Given the description of an element on the screen output the (x, y) to click on. 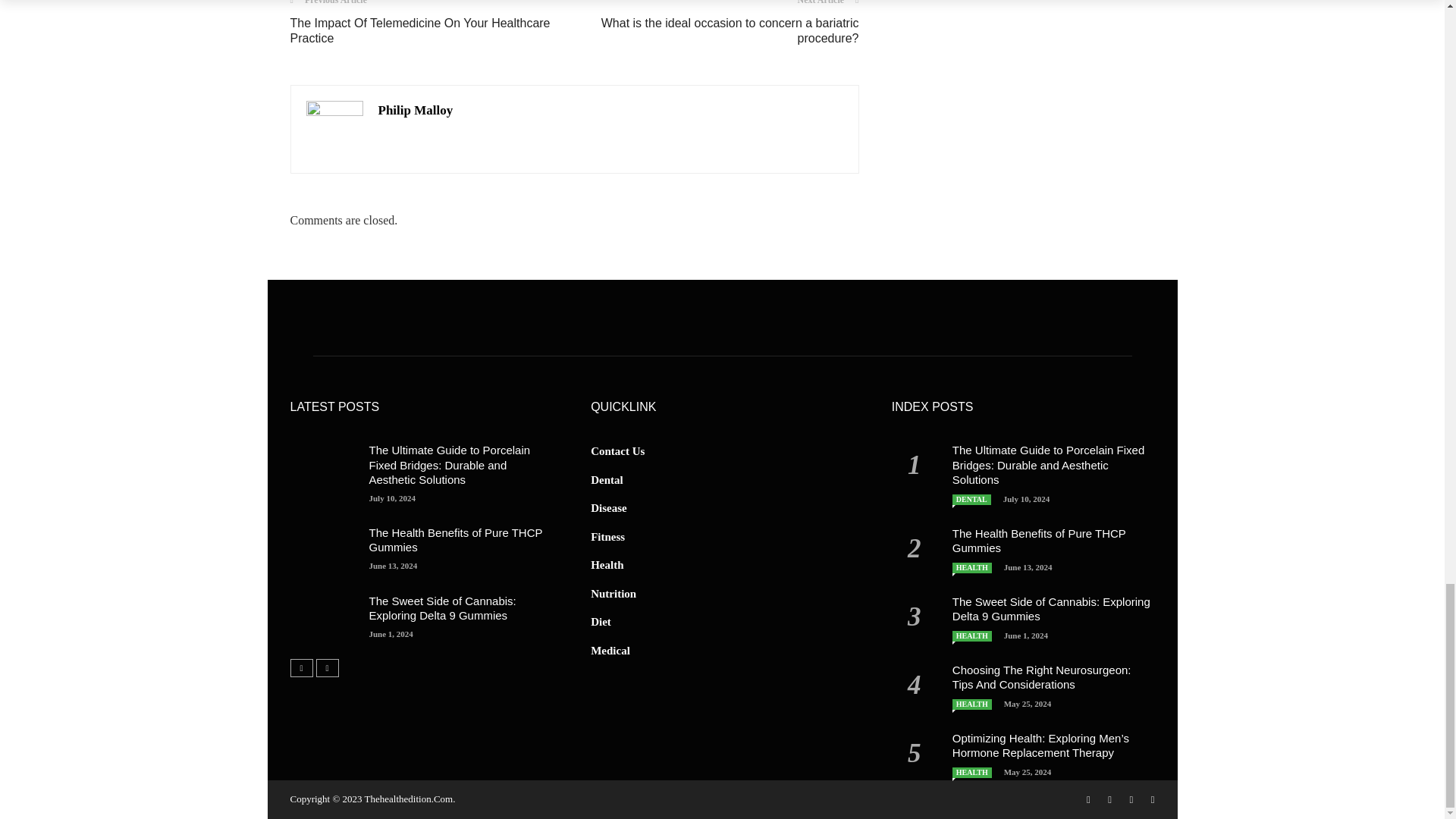
Next (326, 668)
Previous (301, 668)
